Given the description of an element on the screen output the (x, y) to click on. 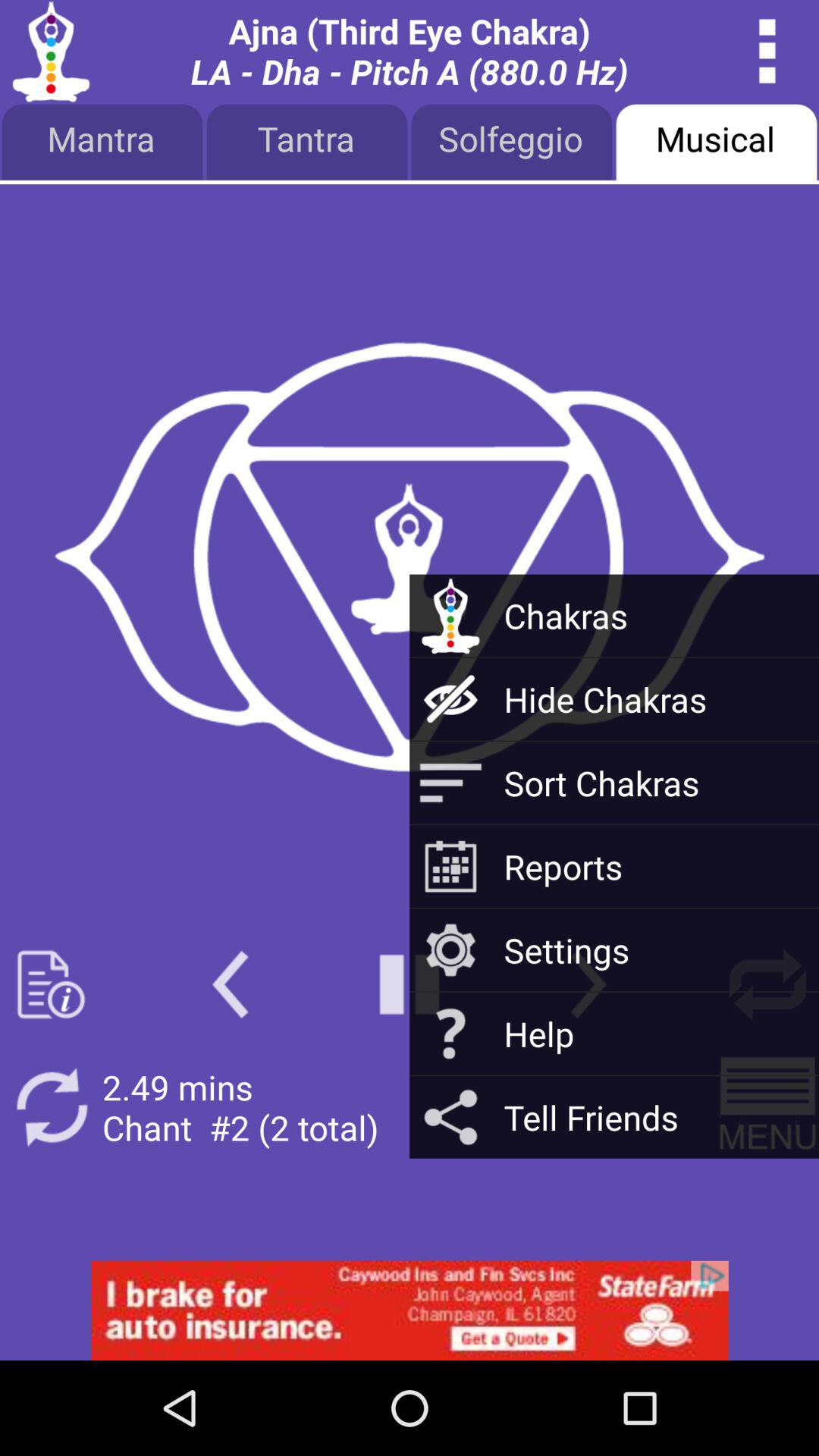
menu page (767, 1107)
